Given the description of an element on the screen output the (x, y) to click on. 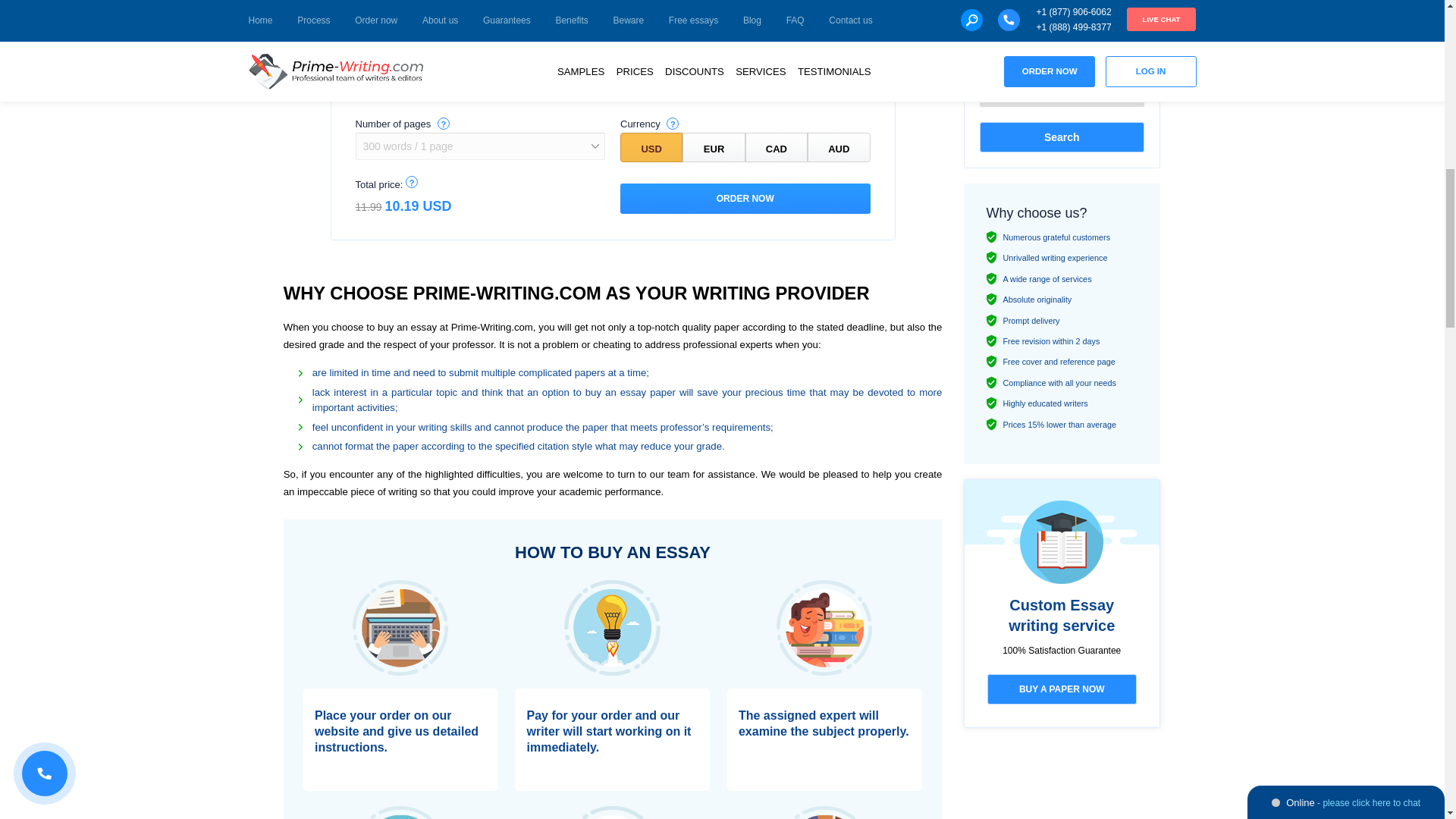
Search (1061, 137)
CAD (776, 147)
EUR (713, 147)
Order now (745, 198)
USD (651, 147)
AUD (838, 147)
